Given the description of an element on the screen output the (x, y) to click on. 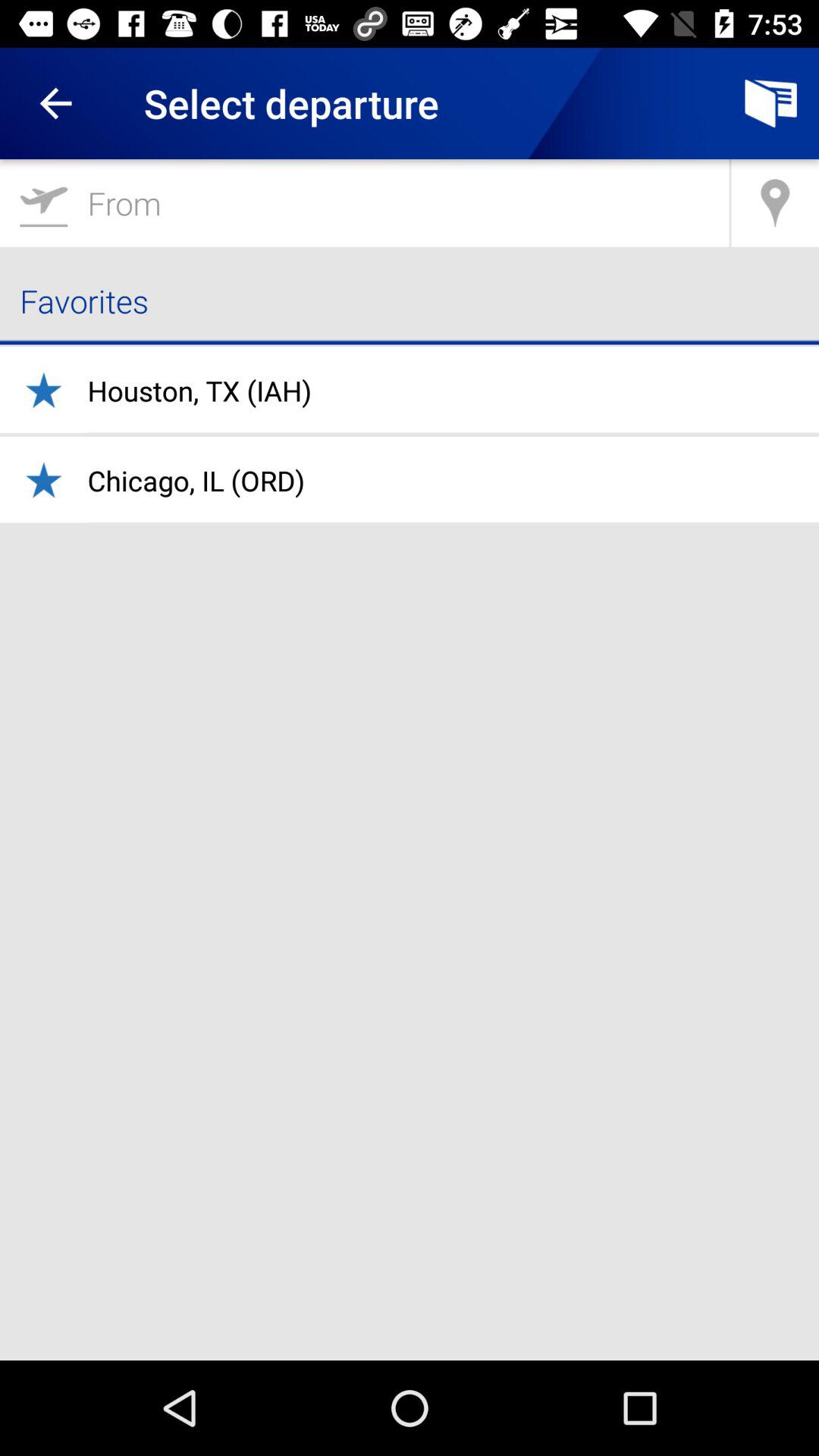
select the houston, tx (iah) (199, 390)
